Given the description of an element on the screen output the (x, y) to click on. 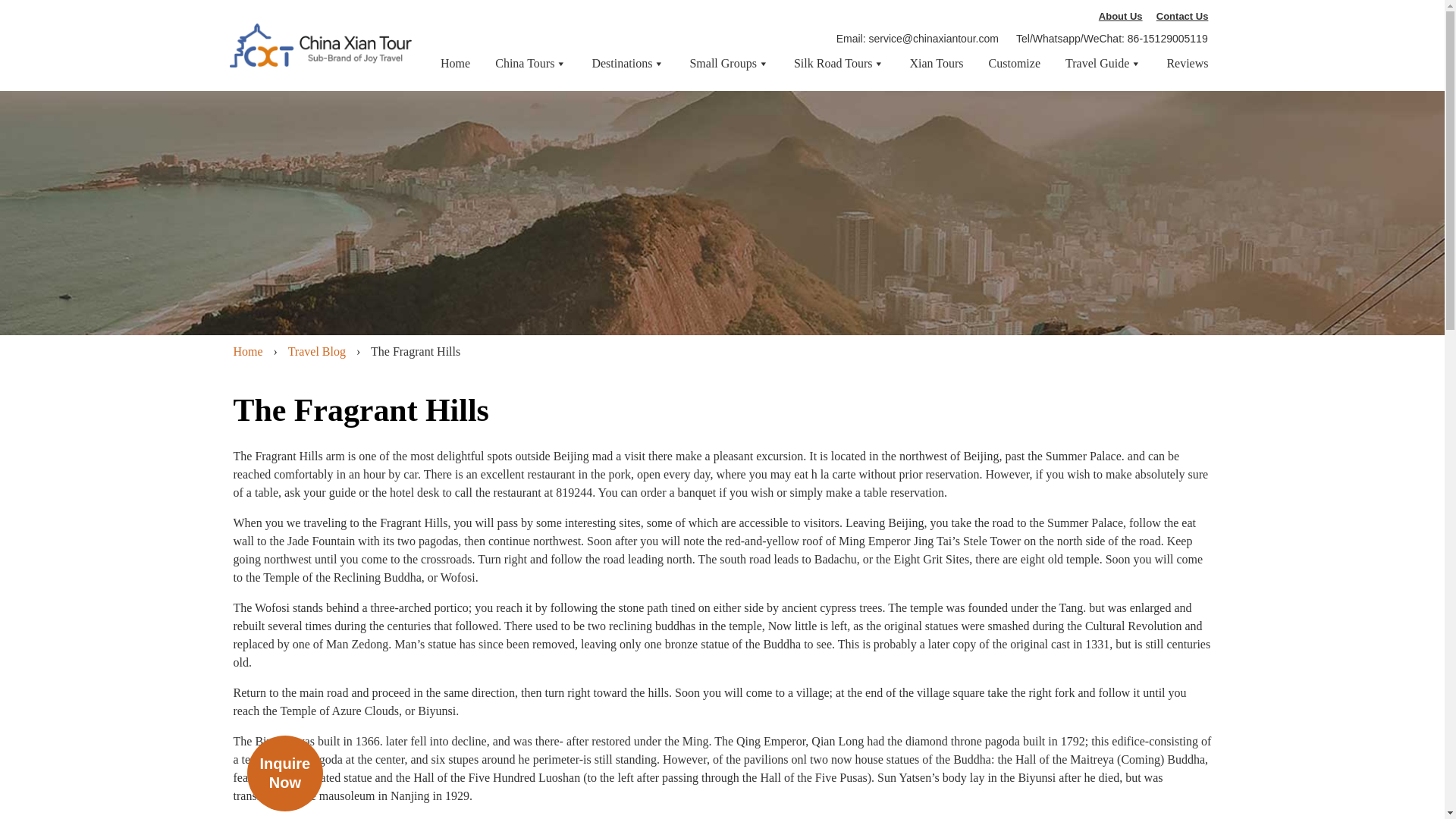
Travel Blog (317, 350)
86-15129005119 (1167, 38)
Home (455, 63)
Home (247, 350)
About Us (1121, 15)
Contact Us (1182, 15)
Destinations (627, 63)
China Tours (530, 63)
